Given the description of an element on the screen output the (x, y) to click on. 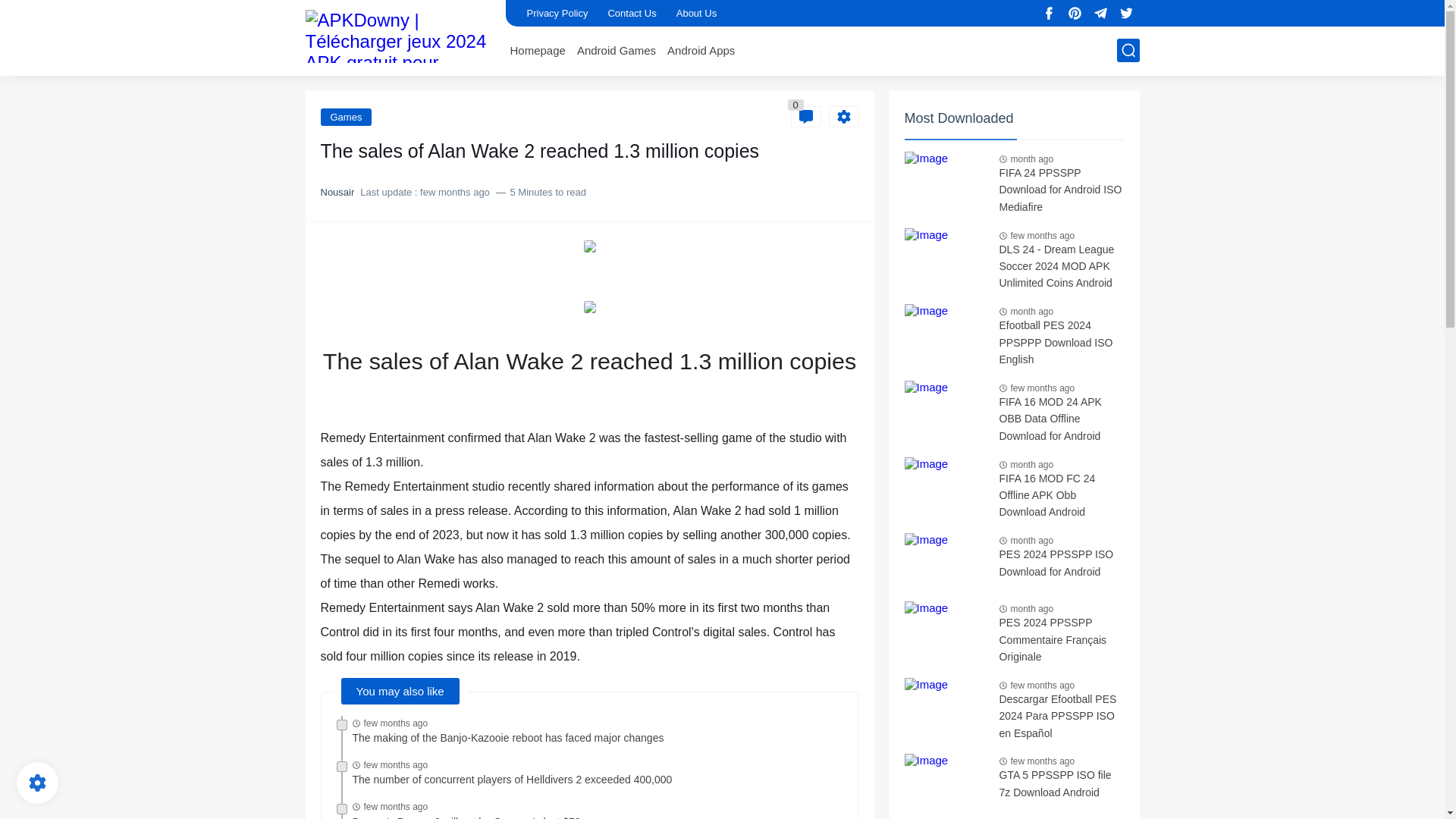
few months ago (396, 806)
Android Games (616, 50)
Contact Us (631, 12)
About Us (695, 12)
Privacy Policy (556, 12)
few months ago (396, 765)
